Given the description of an element on the screen output the (x, y) to click on. 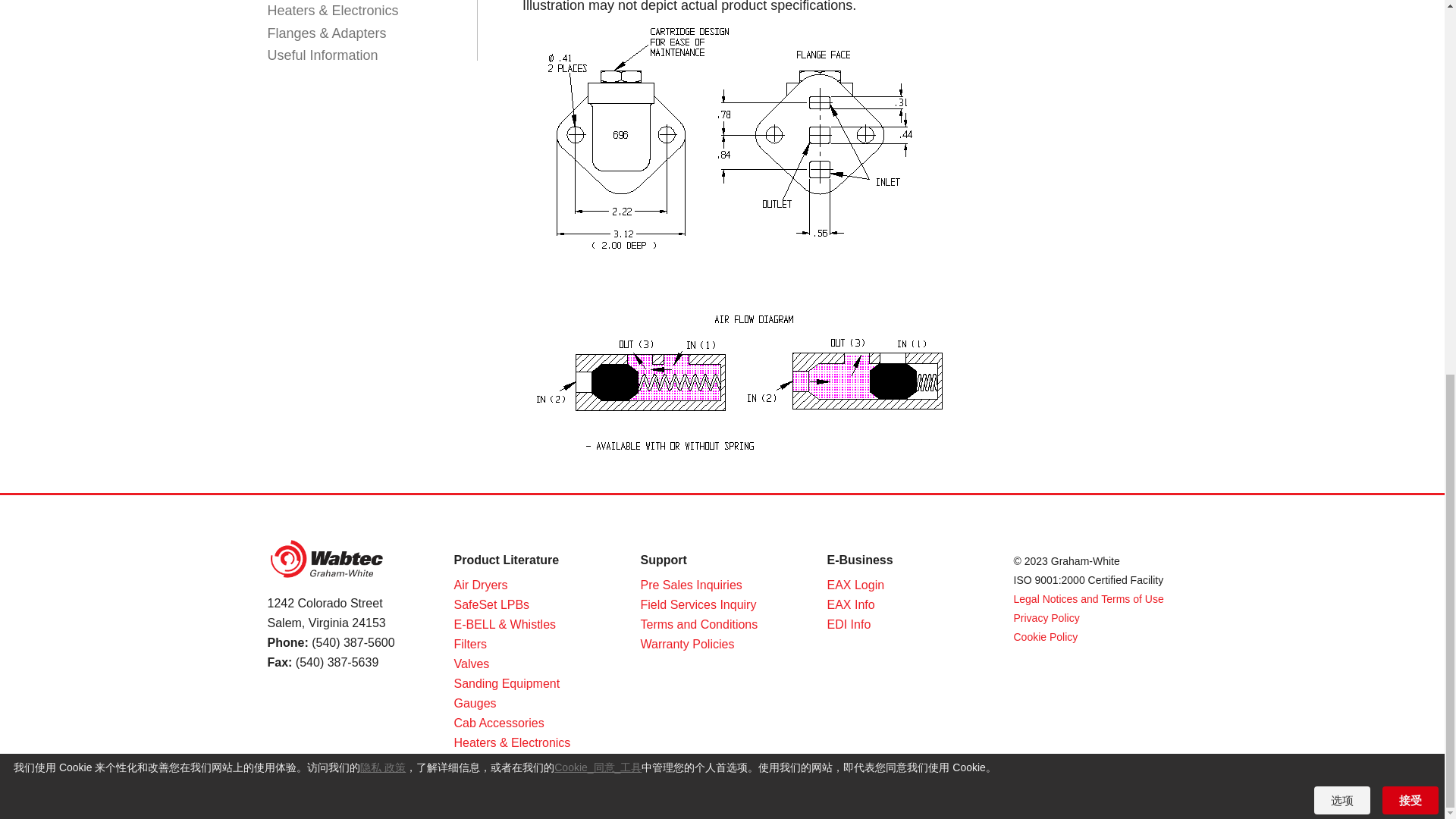
Legal Notices and Terms of Use (1088, 598)
